Given the description of an element on the screen output the (x, y) to click on. 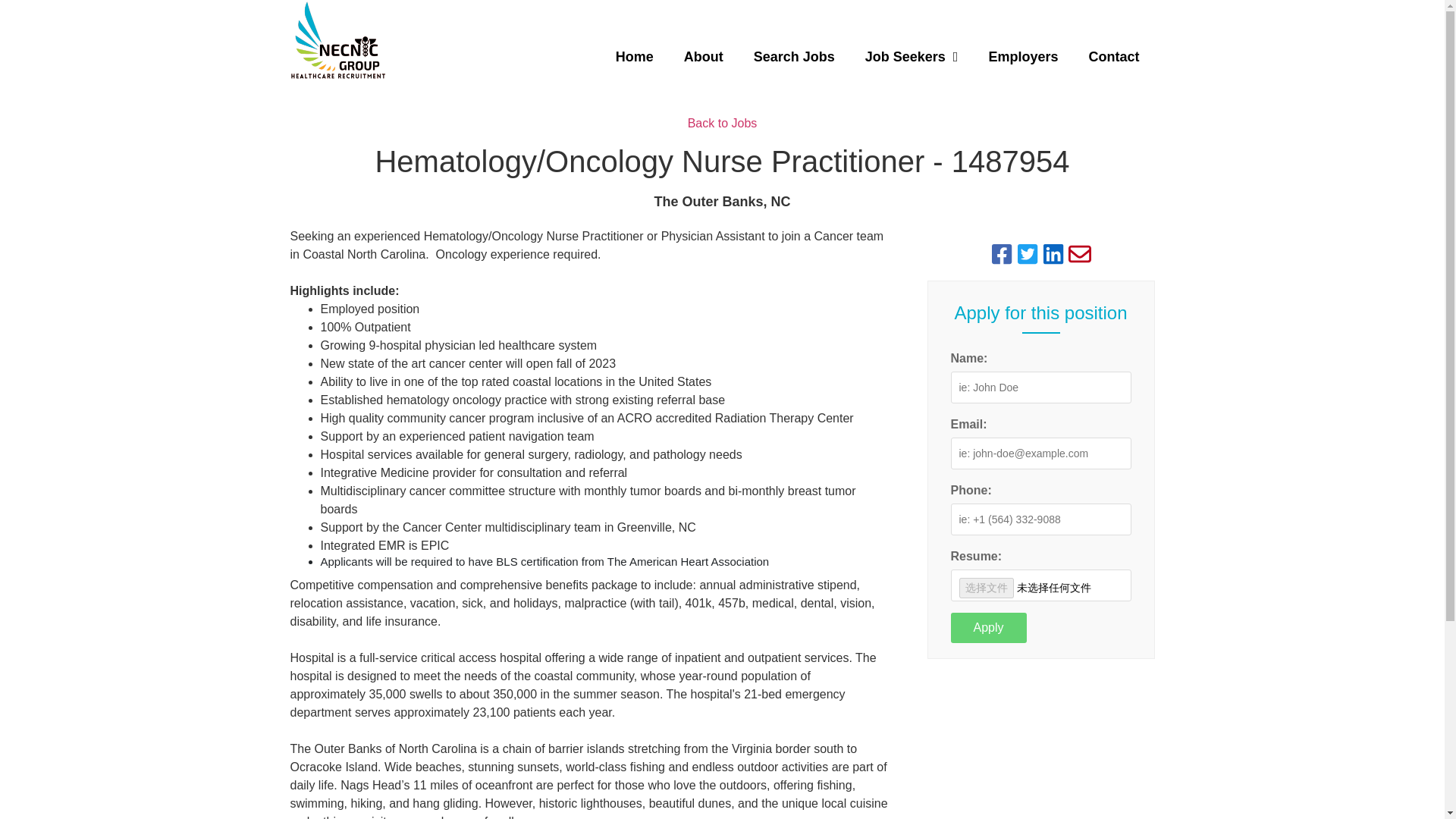
Search Jobs (794, 56)
Home (633, 56)
Job Seekers (912, 56)
Apply (988, 627)
Share on Facebook (1001, 253)
Back to Jobs (722, 123)
Apply (988, 627)
Share on Twitter (1027, 253)
Share on LinkedIn (1053, 253)
Contact (1113, 56)
About (703, 56)
Employers (1022, 56)
